Given the description of an element on the screen output the (x, y) to click on. 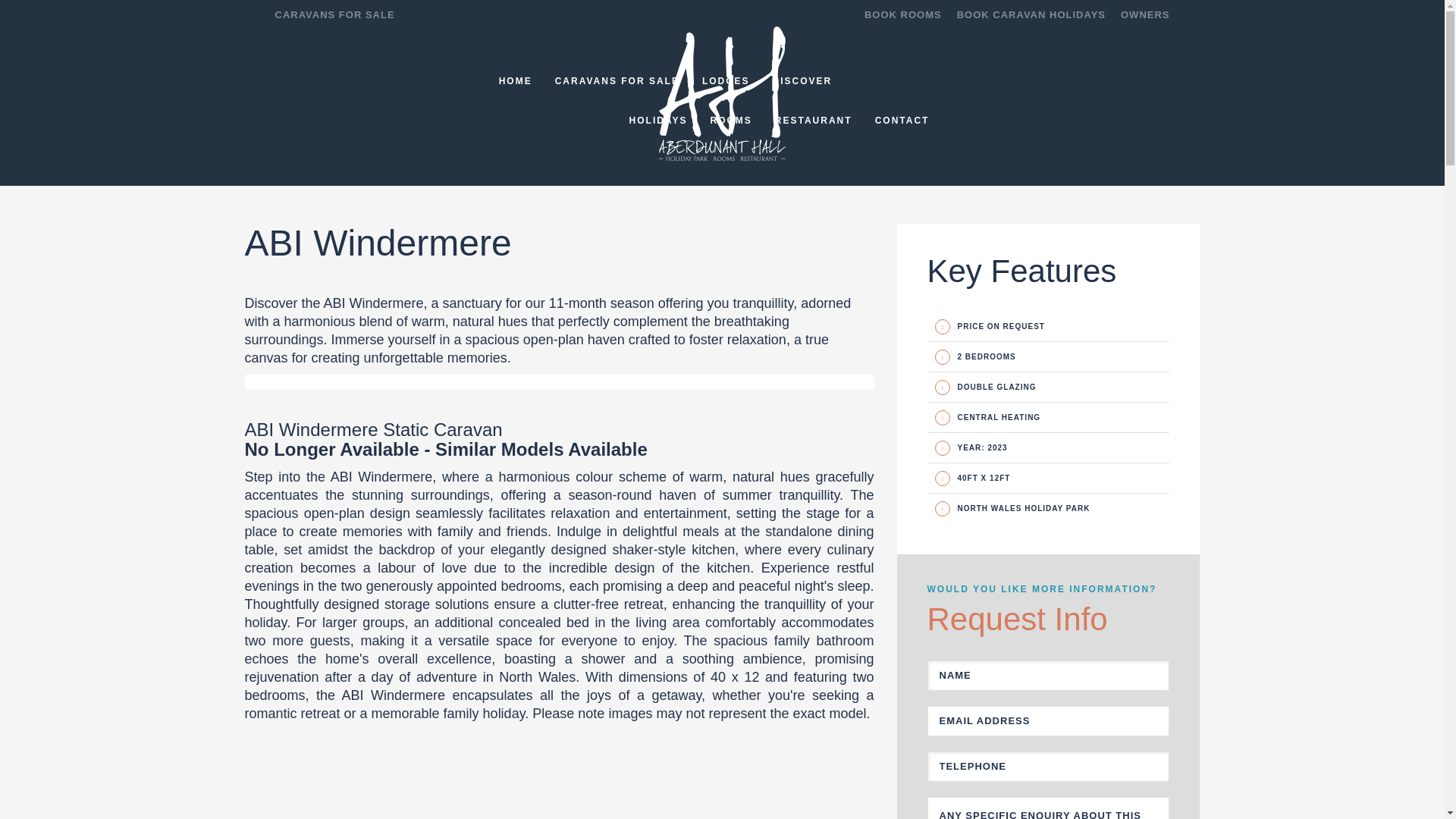
BOOK CARAVAN HOLIDAYS (1030, 14)
Owners Portal (1145, 14)
BOOK ROOMS (903, 14)
Caravans For Sale North Wales (334, 14)
HOLIDAYS (657, 120)
Static Caravans For Sale (616, 80)
LODGES (725, 80)
Book your Caravan Holiday now (1030, 14)
Homepage (722, 111)
DISCOVER (802, 80)
